Given the description of an element on the screen output the (x, y) to click on. 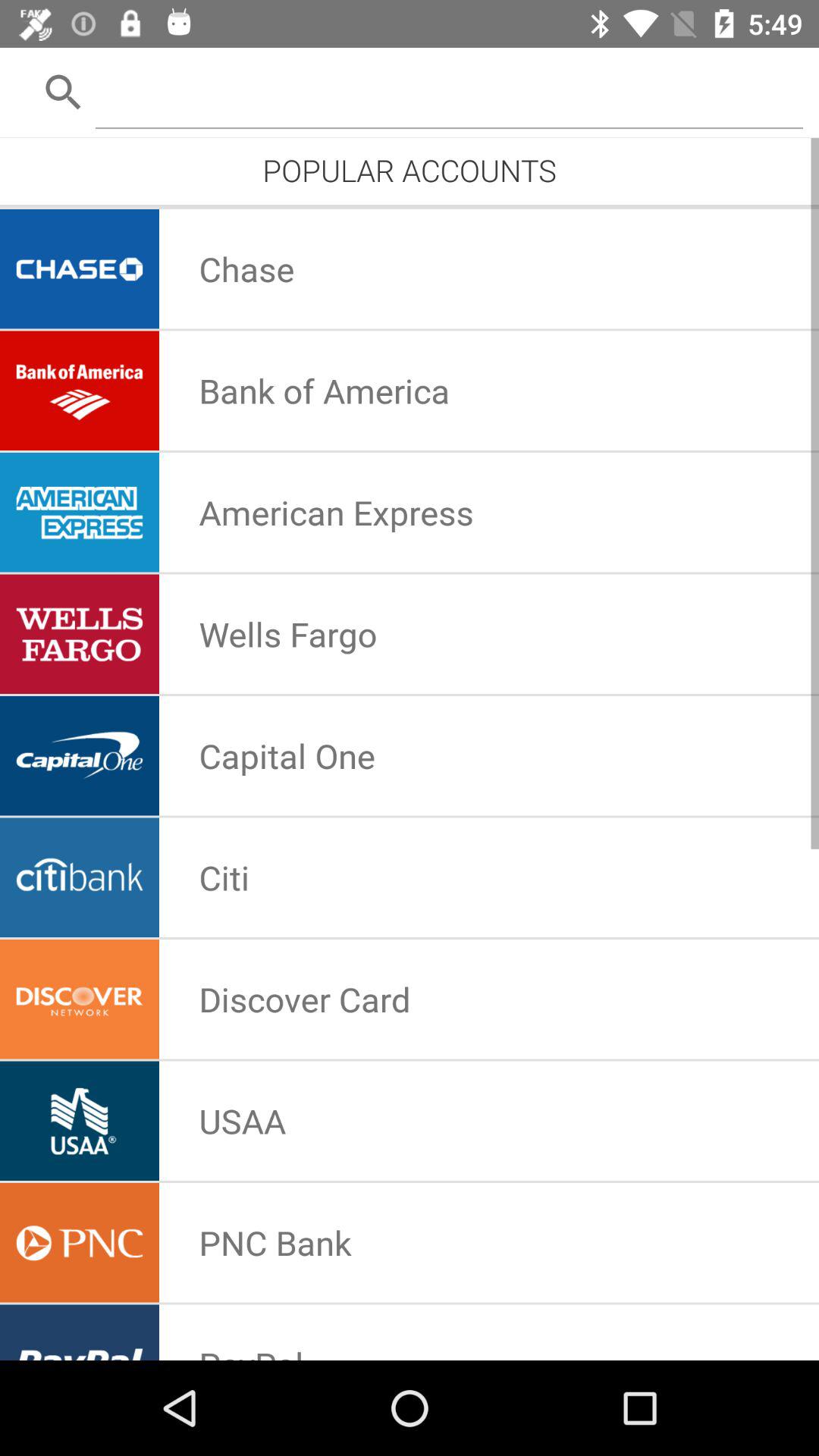
tap chase item (246, 268)
